Given the description of an element on the screen output the (x, y) to click on. 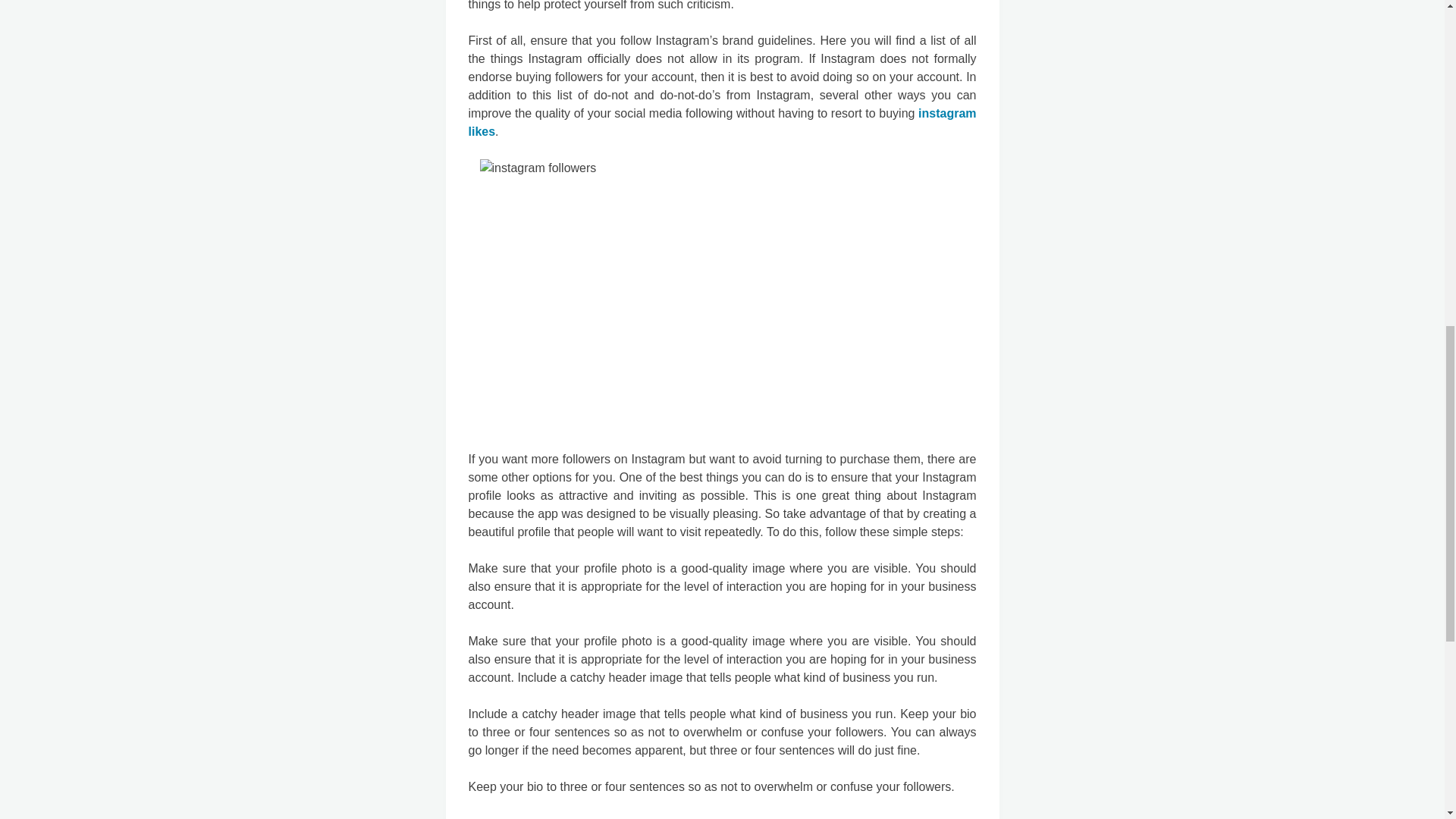
instagram likes (722, 122)
